Given the description of an element on the screen output the (x, y) to click on. 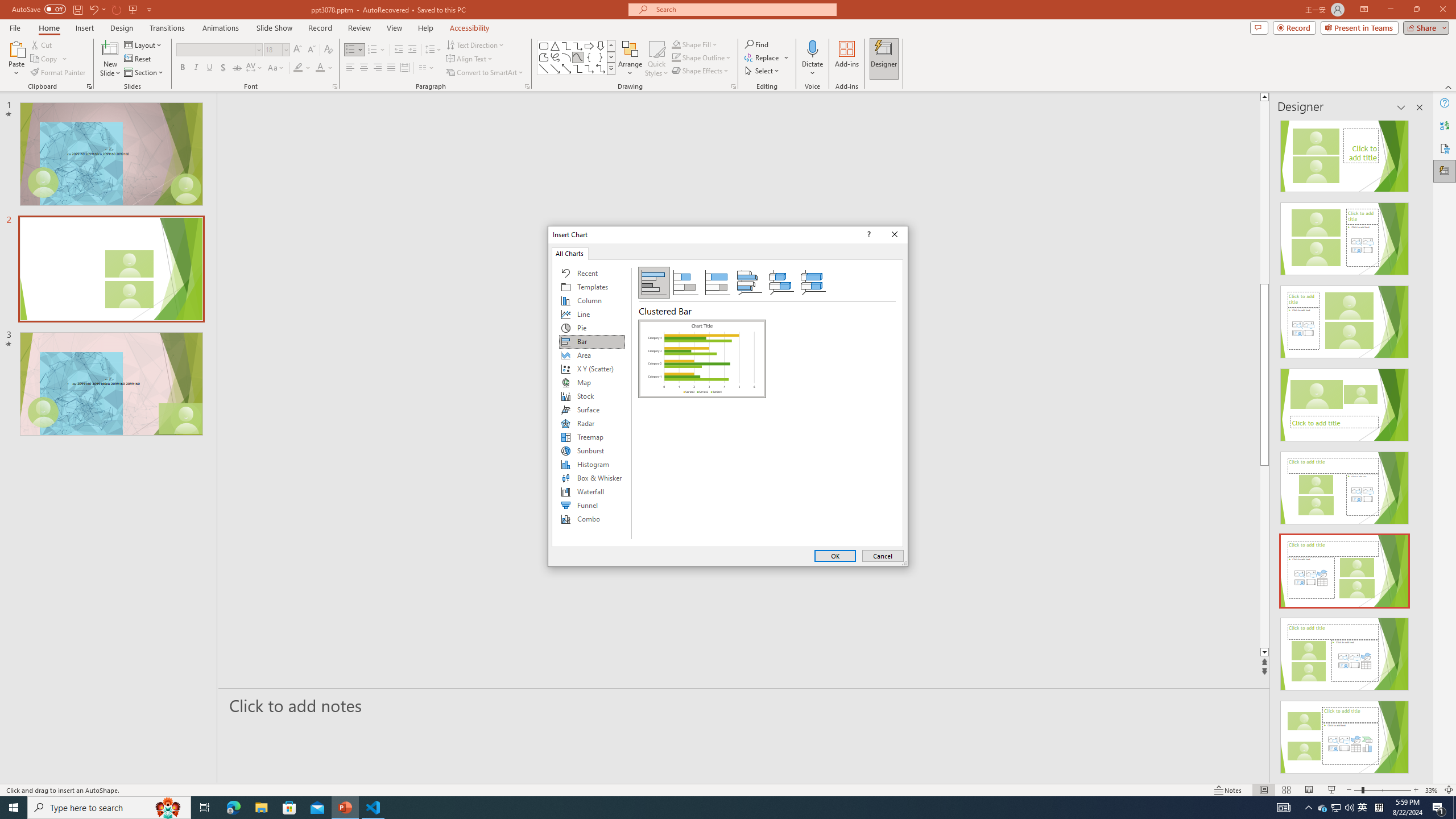
Select (762, 69)
Shape Outline (701, 56)
Area (591, 354)
Sunburst (591, 450)
